Given the description of an element on the screen output the (x, y) to click on. 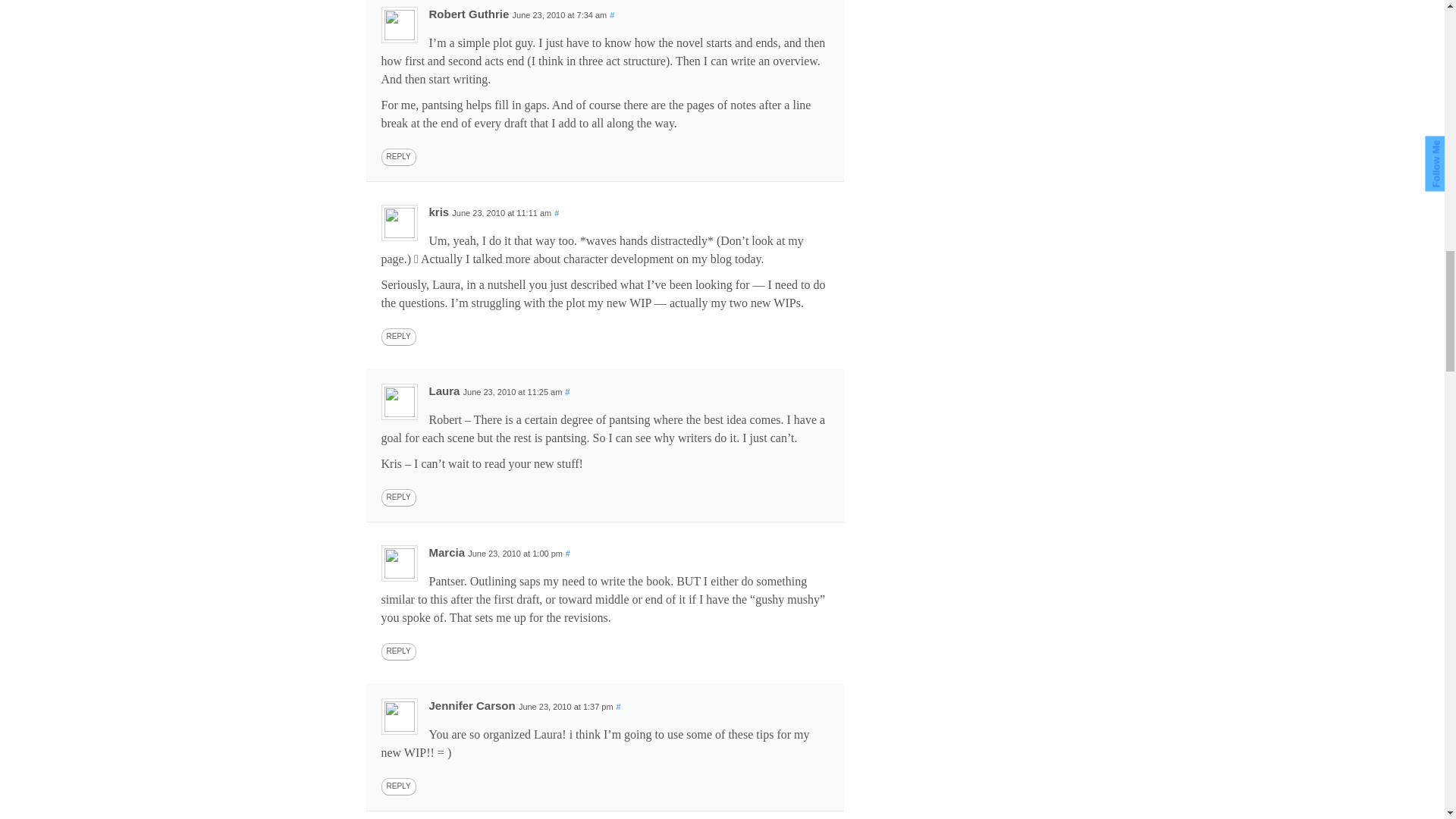
REPLY (397, 336)
REPLY (397, 157)
REPLY (397, 497)
